Given the description of an element on the screen output the (x, y) to click on. 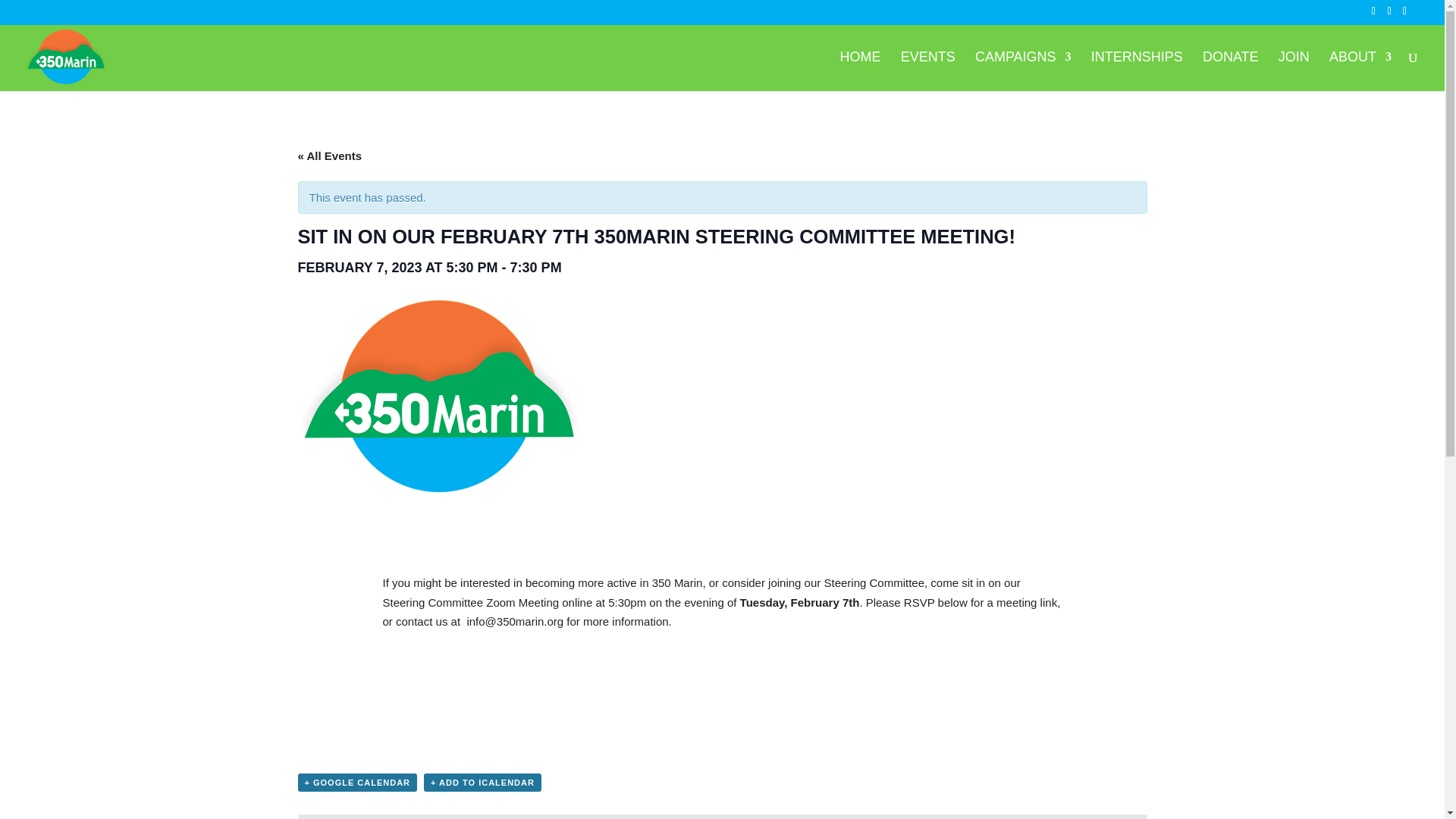
ABOUT (1360, 70)
EVENTS (928, 70)
Download .ics file (482, 782)
DONATE (1230, 70)
CAMPAIGNS (1023, 70)
HOME (860, 70)
Add to Google Calendar (356, 782)
INTERNSHIPS (1136, 70)
